Given the description of an element on the screen output the (x, y) to click on. 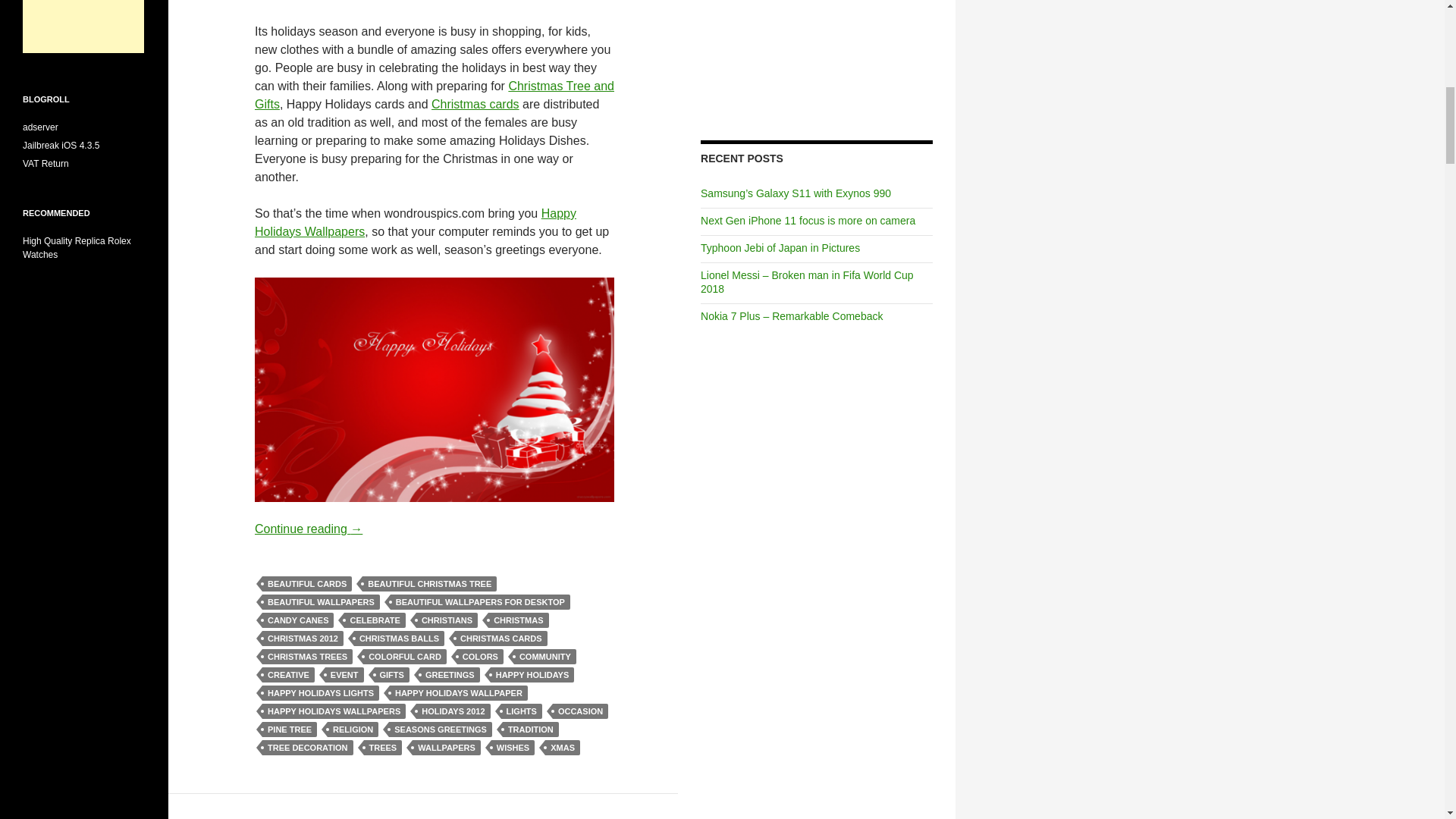
EVENT (344, 674)
CHRISTMAS BALLS (398, 638)
CHRISTMAS TREES (307, 656)
COLORFUL CARD (404, 656)
CREATIVE (288, 674)
COMMUNITY (544, 656)
CHRISTMAS CARDS (500, 638)
Happy Holidays Wallpapers (415, 222)
CANDY CANES (297, 620)
CHRISTMAS 2012 (302, 638)
